Given the description of an element on the screen output the (x, y) to click on. 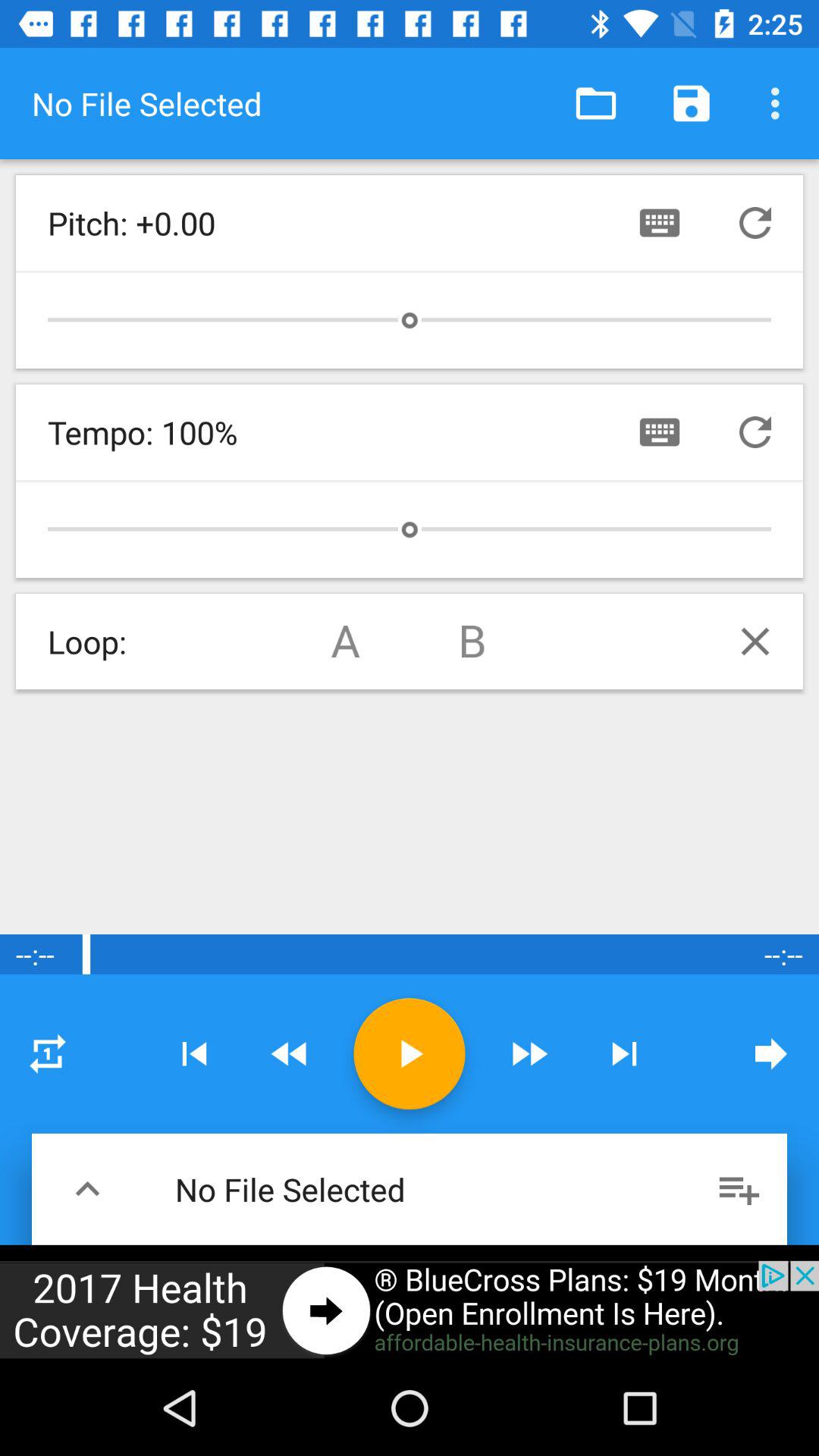
next page (771, 1053)
